Given the description of an element on the screen output the (x, y) to click on. 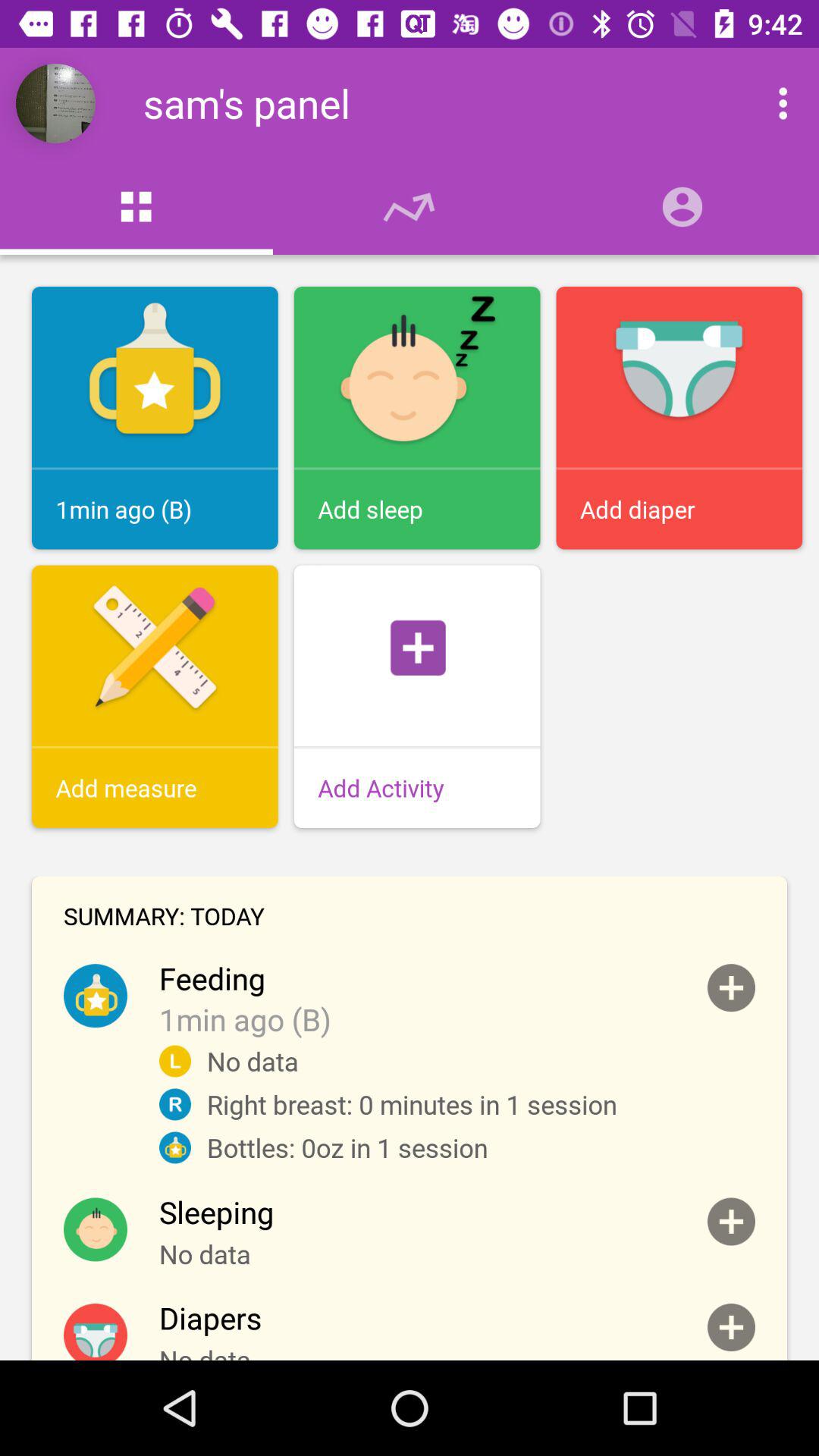
add to data (731, 1221)
